Given the description of an element on the screen output the (x, y) to click on. 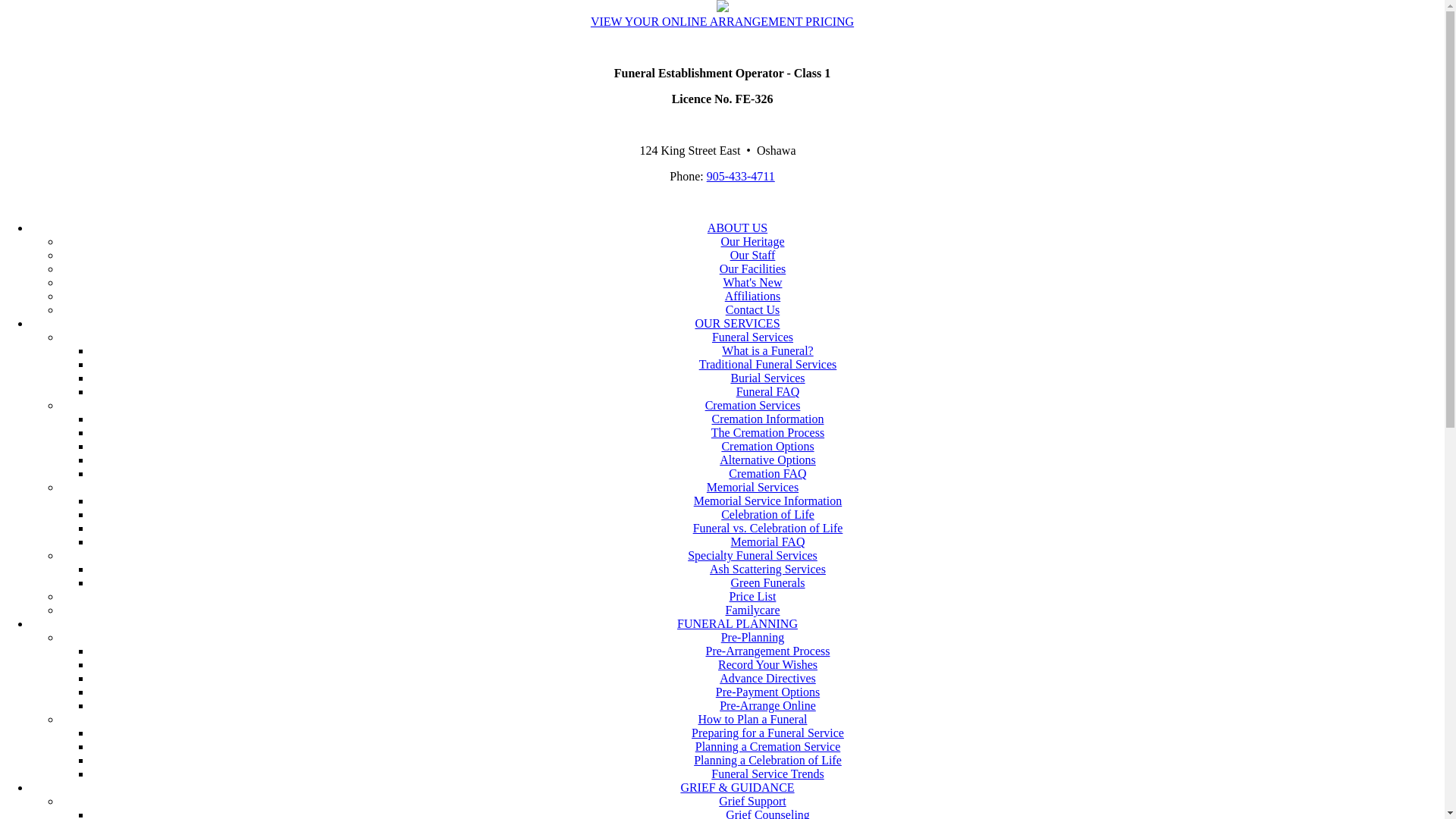
Planning a Celebration of Life Element type: text (767, 759)
Traditional Funeral Services Element type: text (768, 363)
Planning a Cremation Service Element type: text (767, 746)
Cremation Options Element type: text (767, 445)
Grief Support Element type: text (751, 800)
GRIEF & GUIDANCE Element type: text (736, 787)
Record Your Wishes Element type: text (767, 664)
Preparing for a Funeral Service Element type: text (767, 732)
Affiliations Element type: text (752, 295)
Cremation Information Element type: text (768, 418)
How to Plan a Funeral Element type: text (751, 718)
Memorial Services Element type: text (752, 486)
Funeral FAQ Element type: text (768, 391)
Memorial Service Information Element type: text (767, 500)
Ash Scattering Services Element type: text (767, 568)
What's New Element type: text (752, 282)
ABOUT US Element type: text (737, 227)
Contact Us Element type: text (752, 309)
Funeral Services Element type: text (752, 336)
Price List Element type: text (752, 595)
Burial Services Element type: text (767, 377)
Pre-Arrange Online Element type: text (767, 705)
Advance Directives Element type: text (767, 677)
Memorial FAQ Element type: text (768, 541)
What is a Funeral? Element type: text (766, 350)
Our Facilities Element type: text (752, 268)
Pre-Payment Options Element type: text (767, 691)
Alternative Options Element type: text (767, 459)
OUR SERVICES Element type: text (736, 322)
Funeral vs. Celebration of Life Element type: text (768, 527)
Funeral Service Trends Element type: text (767, 773)
Our Heritage Element type: text (752, 241)
FUNERAL PLANNING Element type: text (737, 623)
VIEW YOUR ONLINE ARRANGEMENT PRICING Element type: text (721, 21)
Pre-Planning Element type: text (752, 636)
Pre-Arrangement Process Element type: text (768, 650)
Green Funerals Element type: text (767, 582)
Our Staff Element type: text (752, 254)
Cremation Services Element type: text (752, 404)
Cremation FAQ Element type: text (767, 473)
The Cremation Process Element type: text (767, 432)
Celebration of Life Element type: text (767, 514)
Specialty Funeral Services Element type: text (752, 555)
905-433-4711 Element type: text (740, 175)
Familycare Element type: text (752, 609)
